Given the description of an element on the screen output the (x, y) to click on. 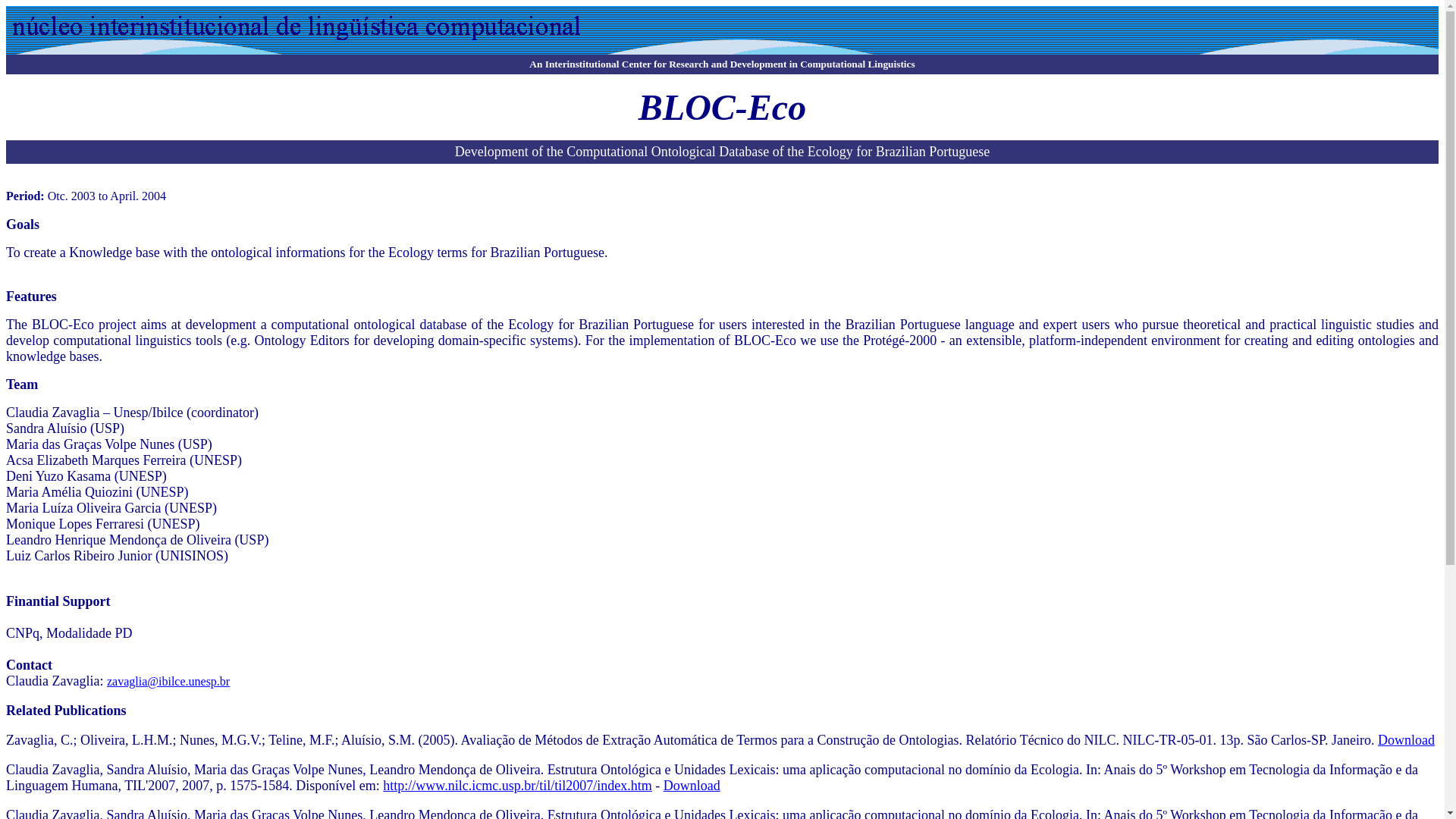
Download Element type: text (691, 785)
Download Element type: text (1405, 739)
http://www.nilc.icmc.usp.br/til/til2007/index.htm Element type: text (516, 785)
zavaglia@ibilce.unesp.br Element type: text (167, 680)
